Given the description of an element on the screen output the (x, y) to click on. 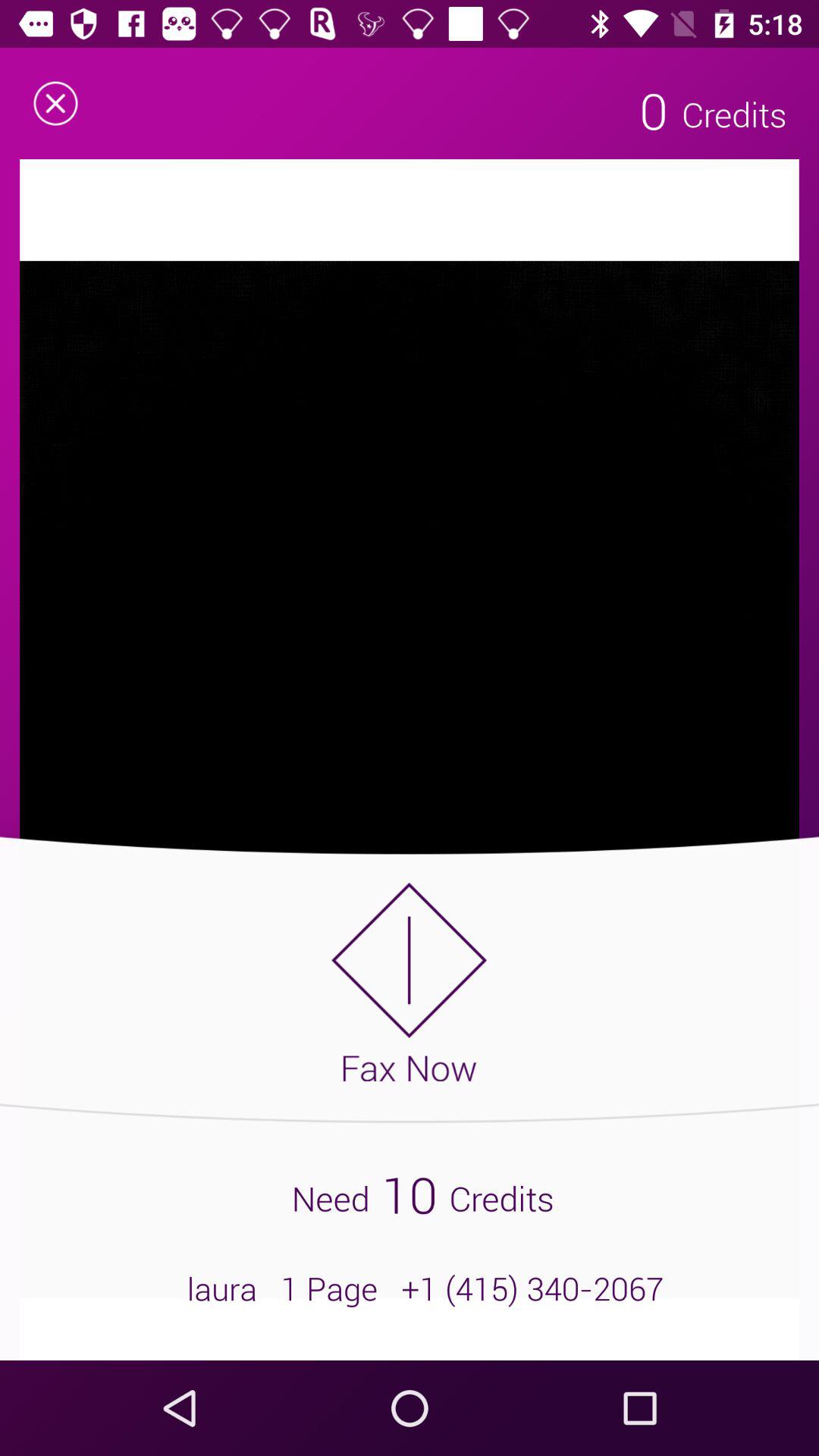
turn off the laura 1 page item (409, 1288)
